Given the description of an element on the screen output the (x, y) to click on. 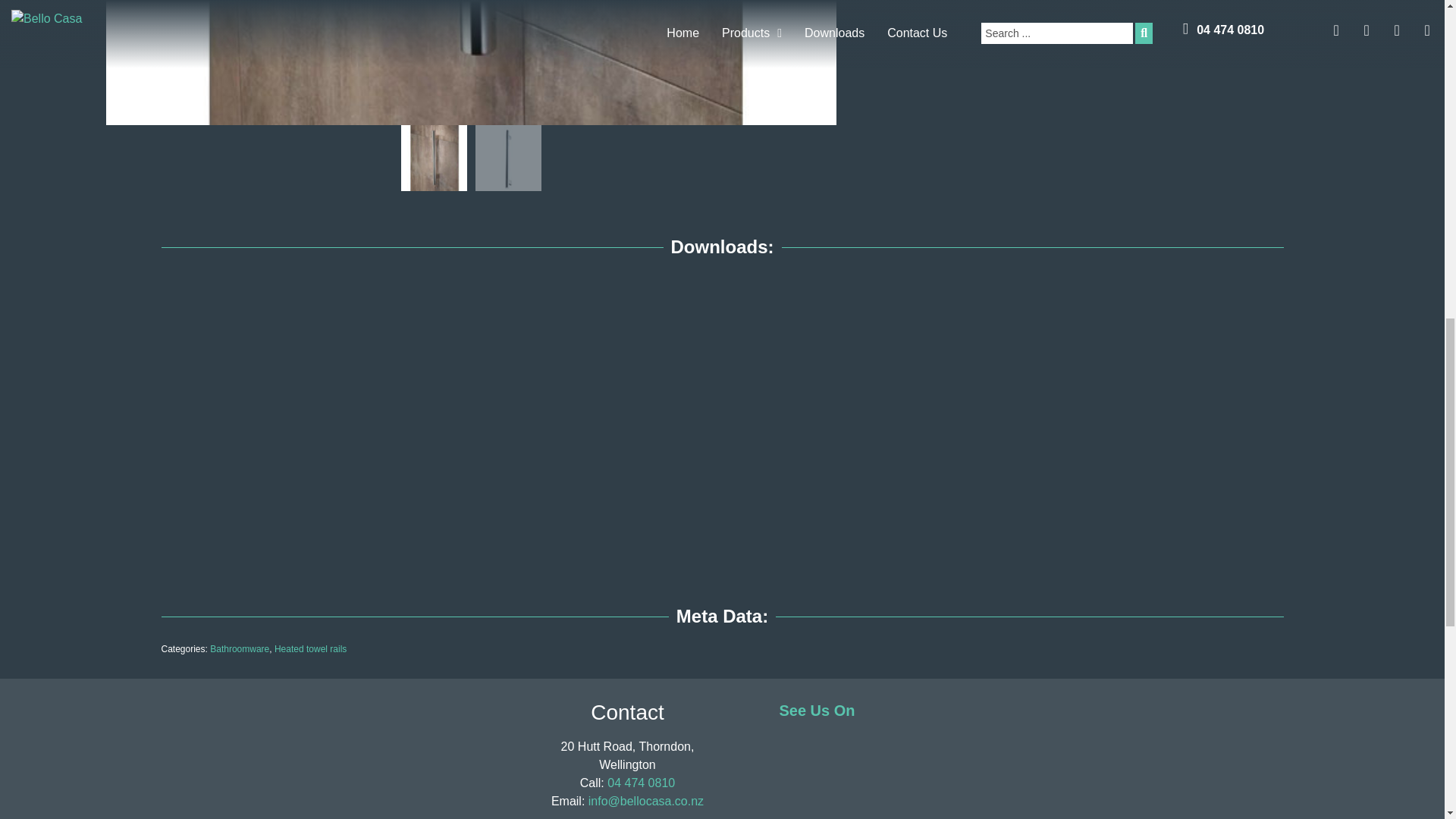
Heiko Pole 1000 Thumbnail 01 (434, 157)
Heiko Pole 1000 (507, 157)
Heiko Pole 1000 Thumbnail 01 (470, 62)
